Given the description of an element on the screen output the (x, y) to click on. 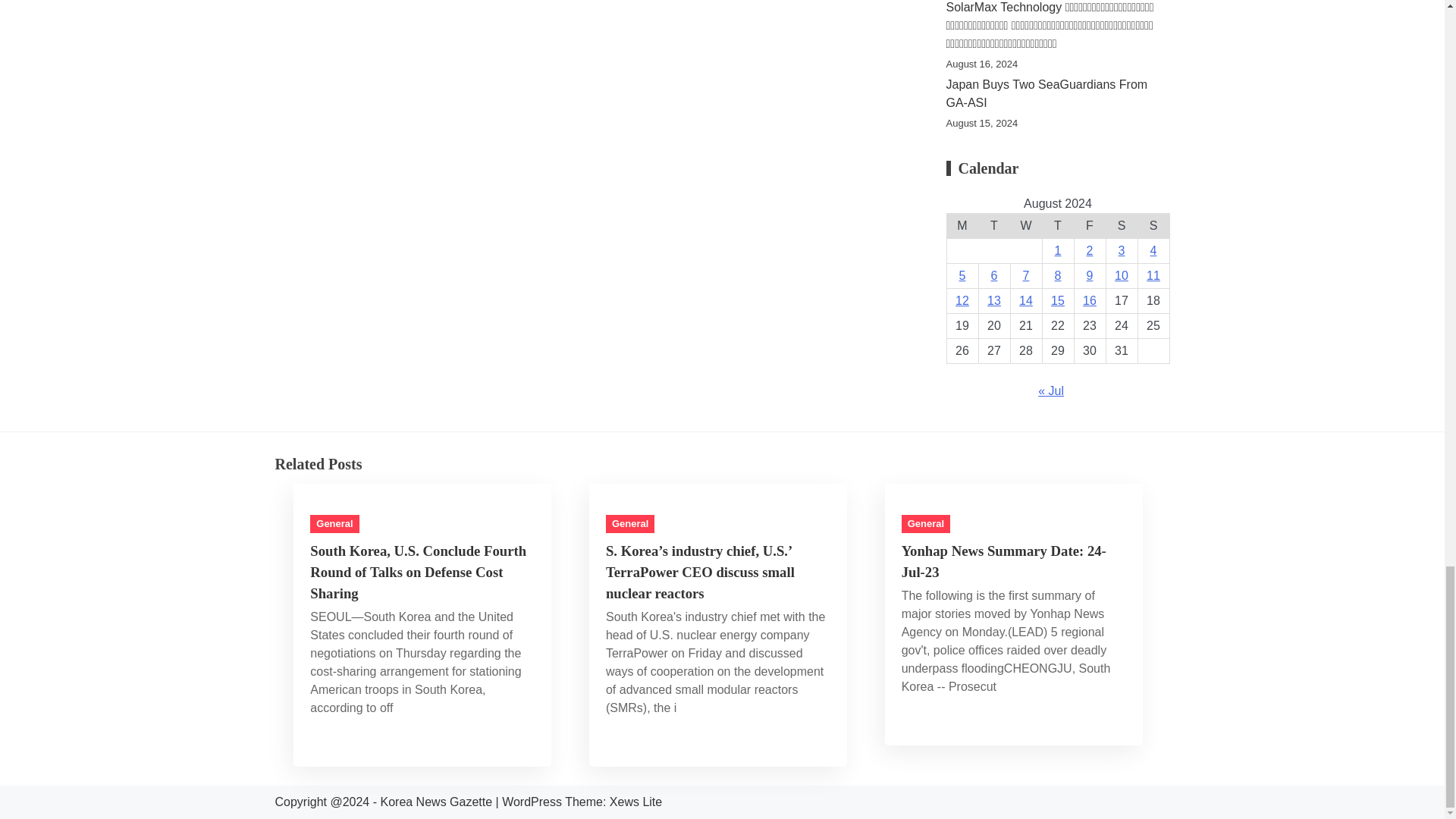
Monday (962, 226)
Sunday (1153, 226)
Saturday (1121, 226)
Thursday (1058, 226)
Friday (1089, 226)
Wednesday (1026, 226)
Tuesday (994, 226)
